Given the description of an element on the screen output the (x, y) to click on. 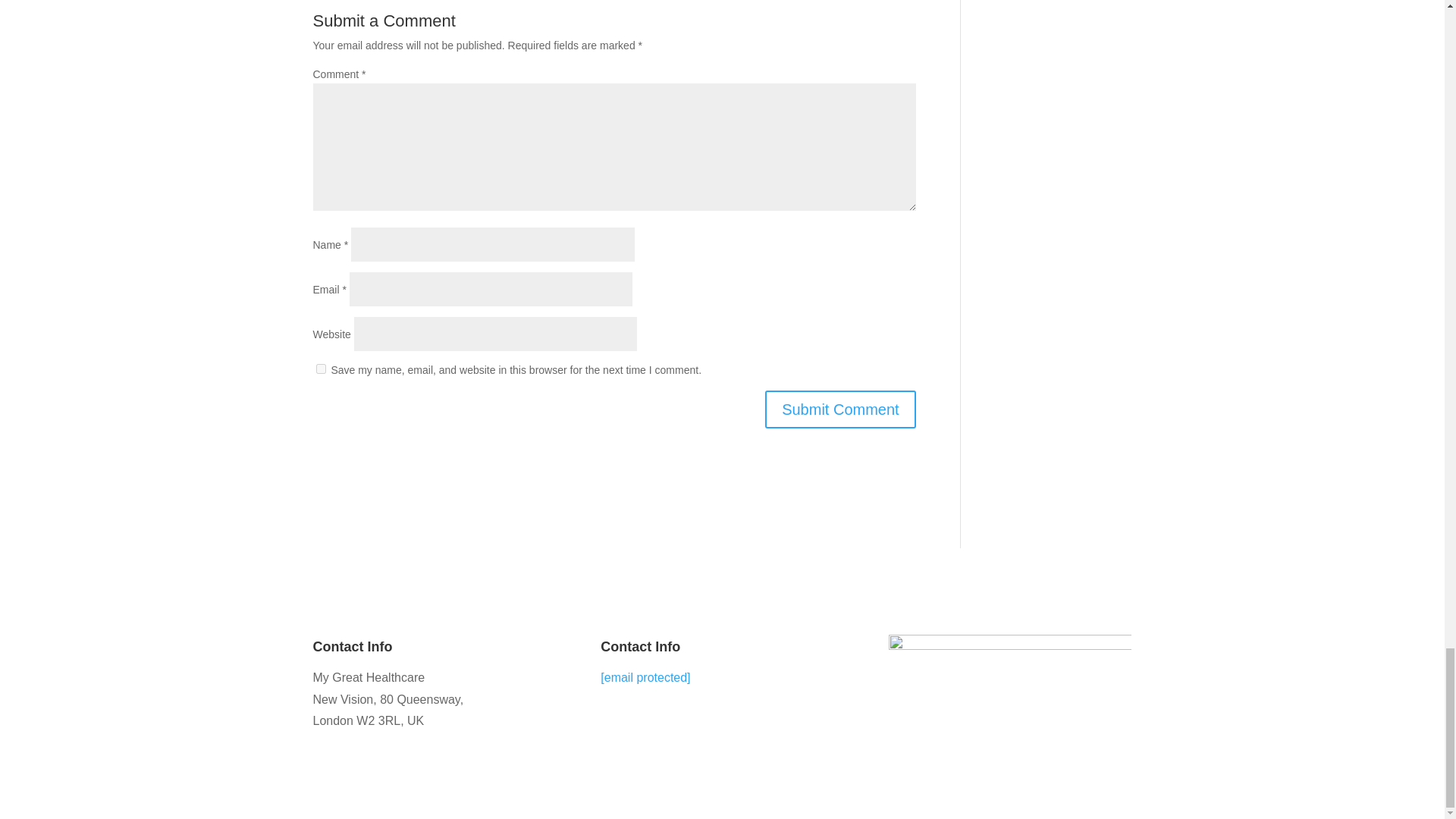
yes (319, 368)
Submit Comment (840, 409)
Submit Comment (840, 409)
